Given the description of an element on the screen output the (x, y) to click on. 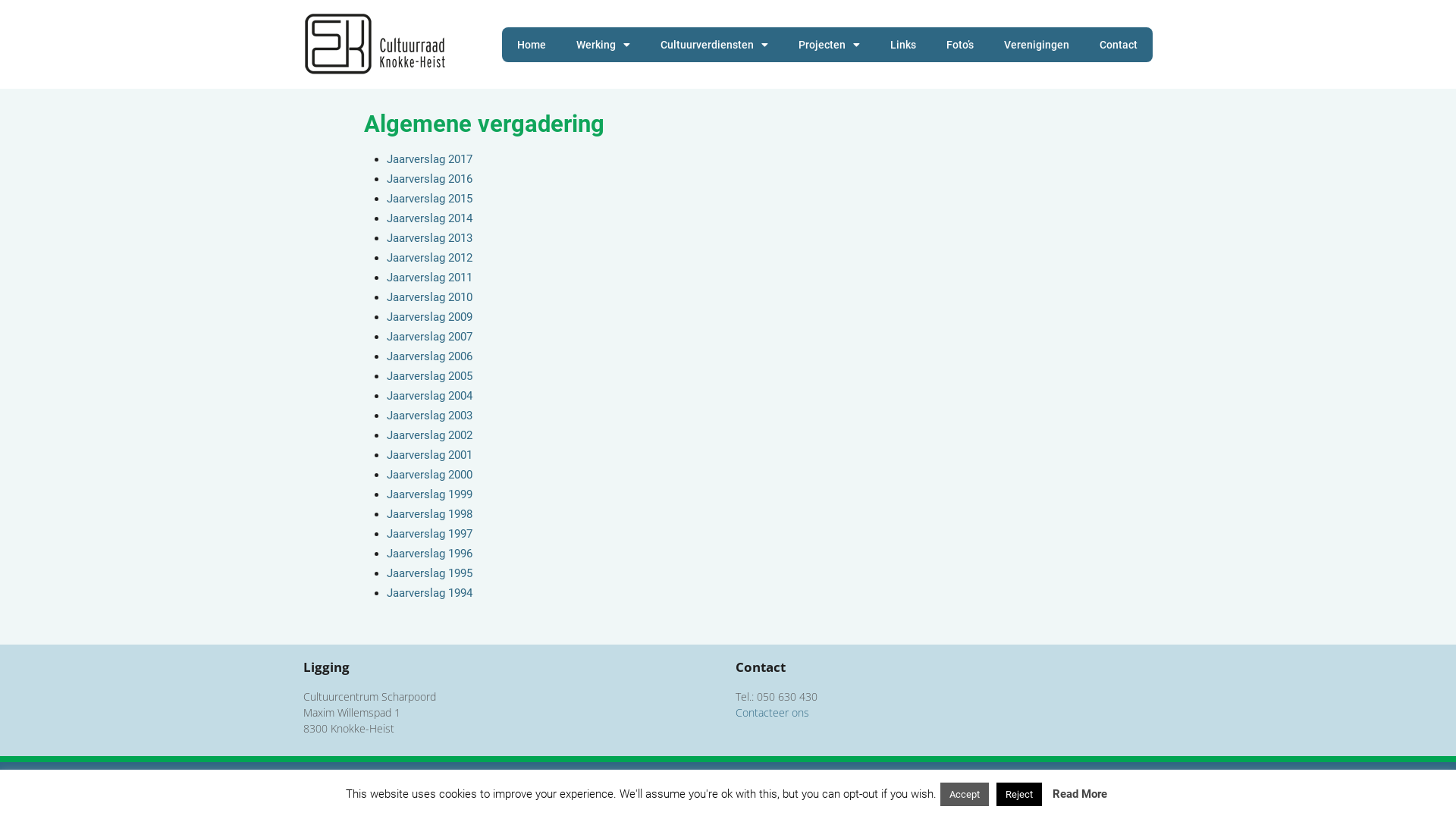
Jaarverslag 1999 Element type: text (429, 494)
Contact Element type: text (1118, 44)
Jaarverslag 2013 Element type: text (429, 237)
Site by Verdographics Element type: text (1103, 785)
Projecten Element type: text (829, 44)
Jaarverslag 2005 Element type: text (429, 375)
Jaarverslag 2016 Element type: text (429, 178)
Jaarverslag 1994 Element type: text (429, 592)
Jaarverslag 2012 Element type: text (429, 257)
Read More Element type: text (1079, 793)
Jaarverslag 1996 Element type: text (429, 553)
Jaarverslag 2000 Element type: text (429, 474)
Jaarverslag 2002 Element type: text (429, 435)
Jaarverslag 2010 Element type: text (429, 297)
Contacteer ons Element type: text (772, 712)
Jaarverslag 2006 Element type: text (429, 356)
Home Element type: text (531, 44)
Jaarverslag 2011 Element type: text (429, 277)
Links Element type: text (903, 44)
Accept Element type: text (964, 794)
Jaarverslag 2017 Element type: text (429, 159)
Jaarverslag 2014 Element type: text (429, 218)
Jaarverslag 2015 Element type: text (429, 198)
Jaarverslag 1995 Element type: text (429, 573)
Jaarverslag 1997 Element type: text (429, 533)
Verenigingen Element type: text (1036, 44)
Jaarverslag 2004 Element type: text (429, 395)
Jaarverslag 2009 Element type: text (429, 316)
Jaarverslag 1998 Element type: text (429, 513)
Jaarverslag 2007 Element type: text (429, 336)
Jaarverslag 2001 Element type: text (429, 454)
Reject Element type: text (1018, 794)
Cultuurverdiensten Element type: text (714, 44)
Werking Element type: text (603, 44)
Jaarverslag 2003 Element type: text (429, 415)
